Given the description of an element on the screen output the (x, y) to click on. 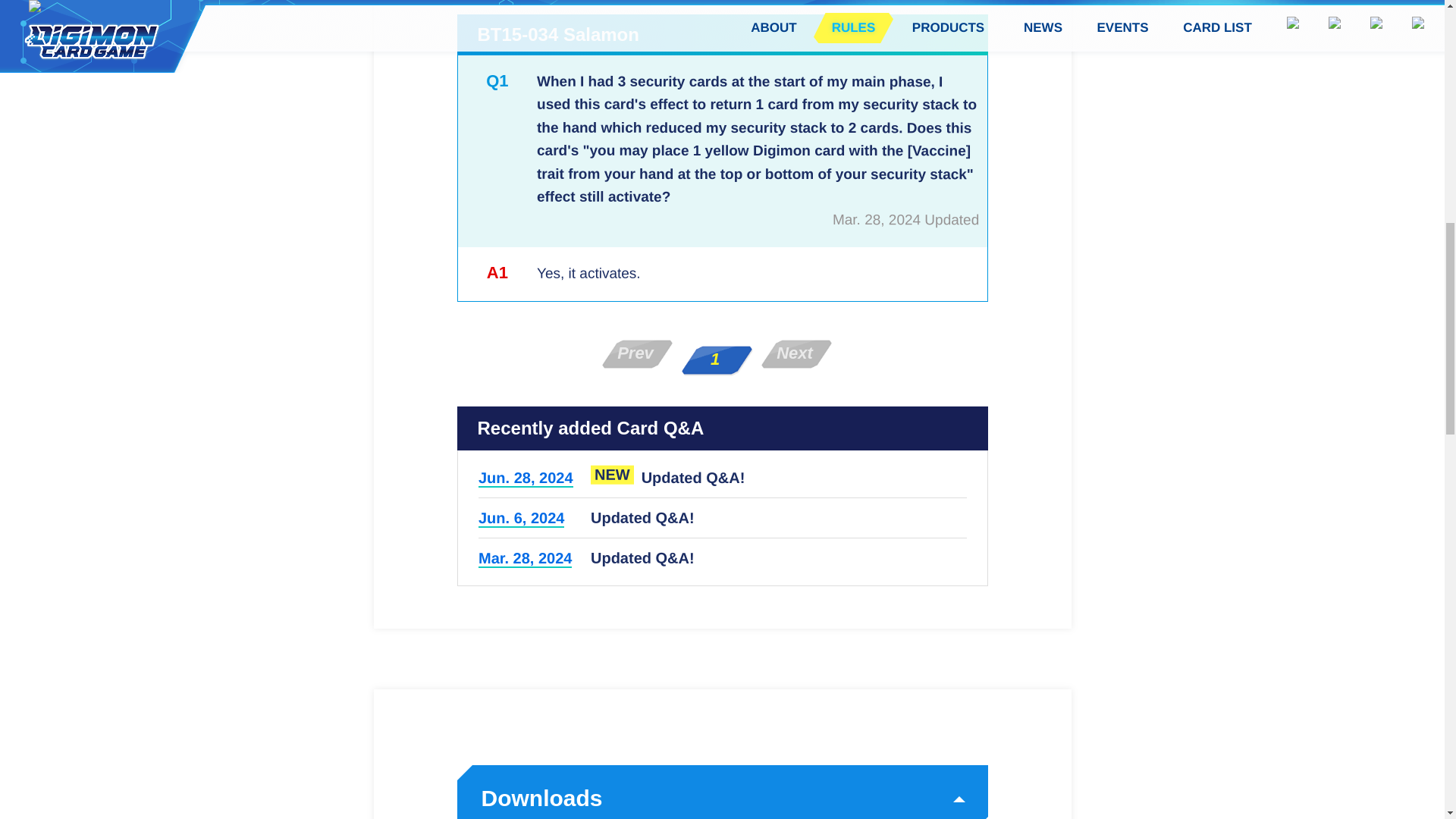
Prev (636, 353)
Jun. 28, 2024 (524, 478)
Next (796, 353)
1 (717, 359)
Mar. 28, 2024 (523, 558)
Jun. 6, 2024 (520, 518)
Downloads (722, 798)
